Given the description of an element on the screen output the (x, y) to click on. 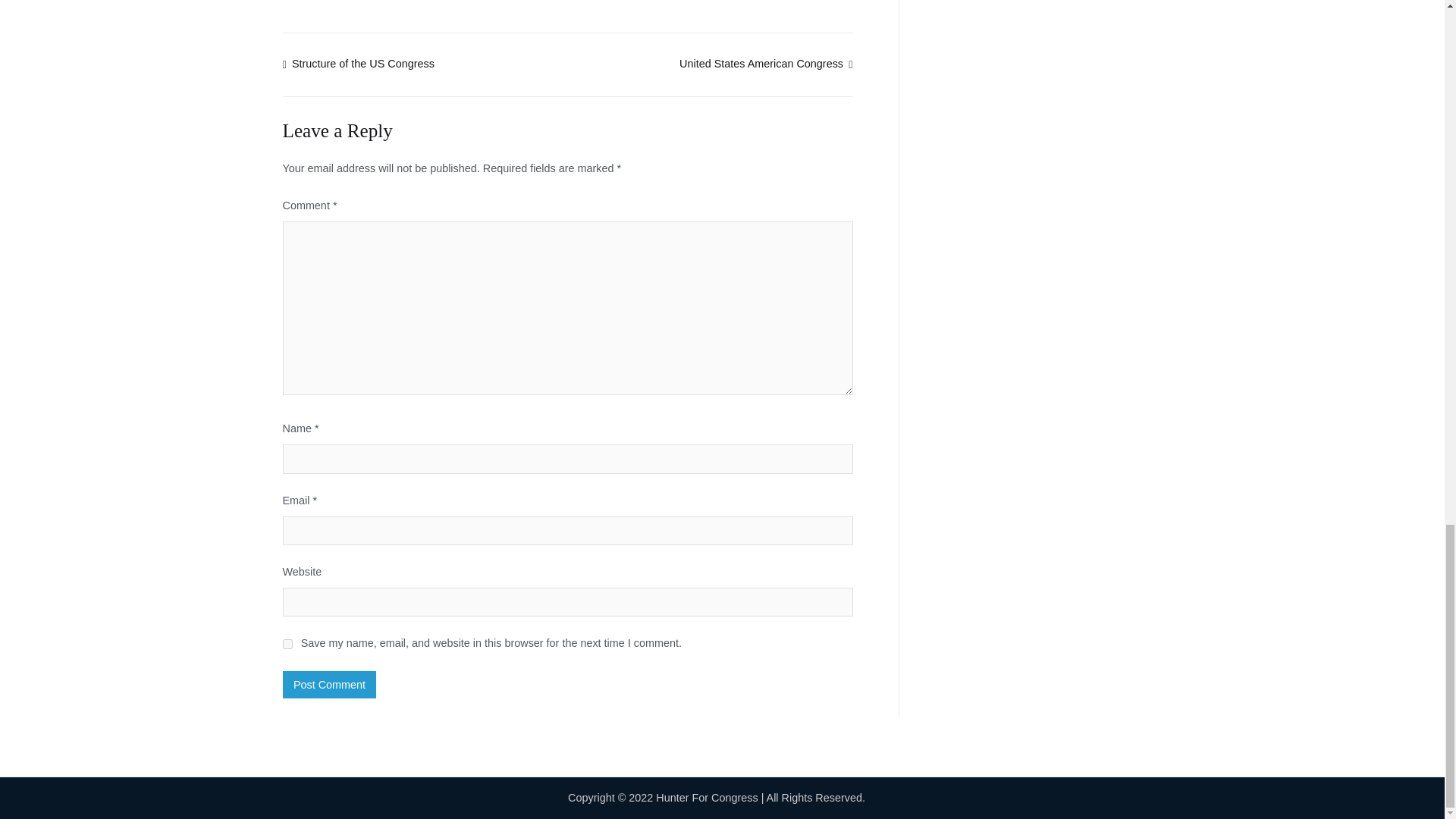
Post Comment (328, 684)
Structure of the US Congress (357, 63)
yes (287, 644)
United States American Congress (765, 63)
Post Comment (328, 684)
